Given the description of an element on the screen output the (x, y) to click on. 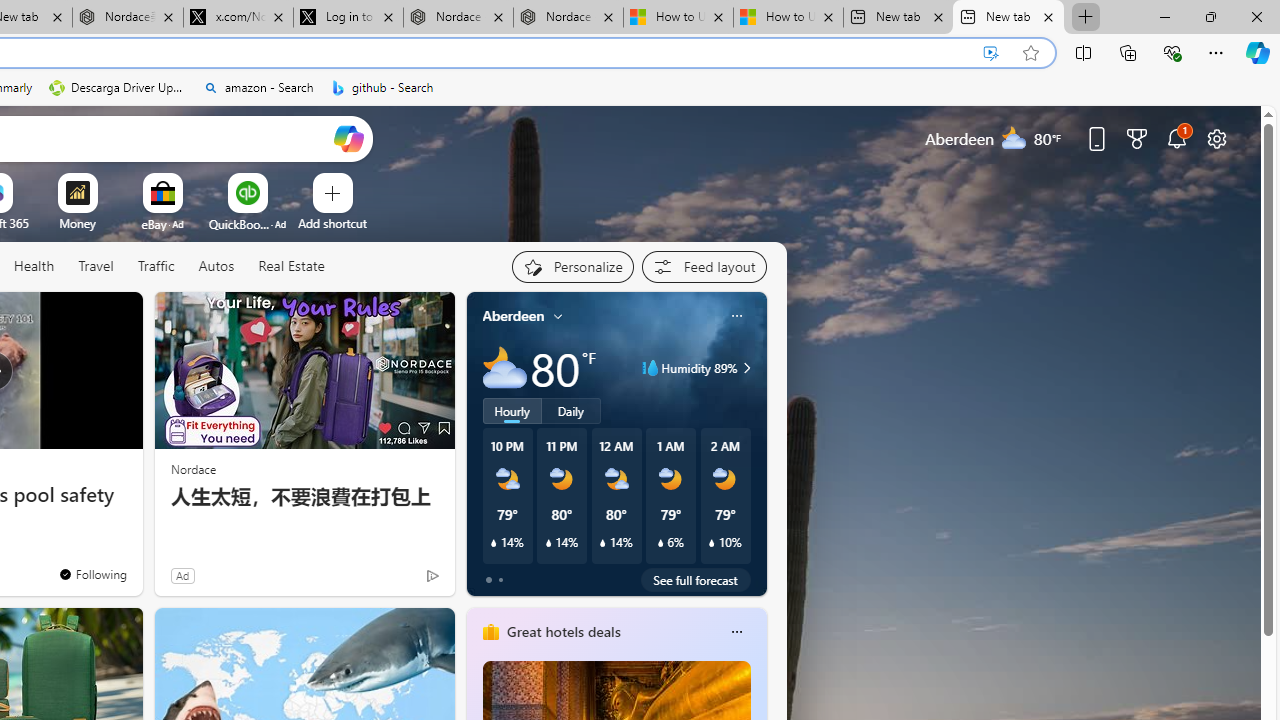
Class: icon-img (736, 632)
Humidity 89% (744, 367)
Class: weather-arrow-glyph (746, 367)
Daily (571, 411)
Travel (95, 265)
